Given the description of an element on the screen output the (x, y) to click on. 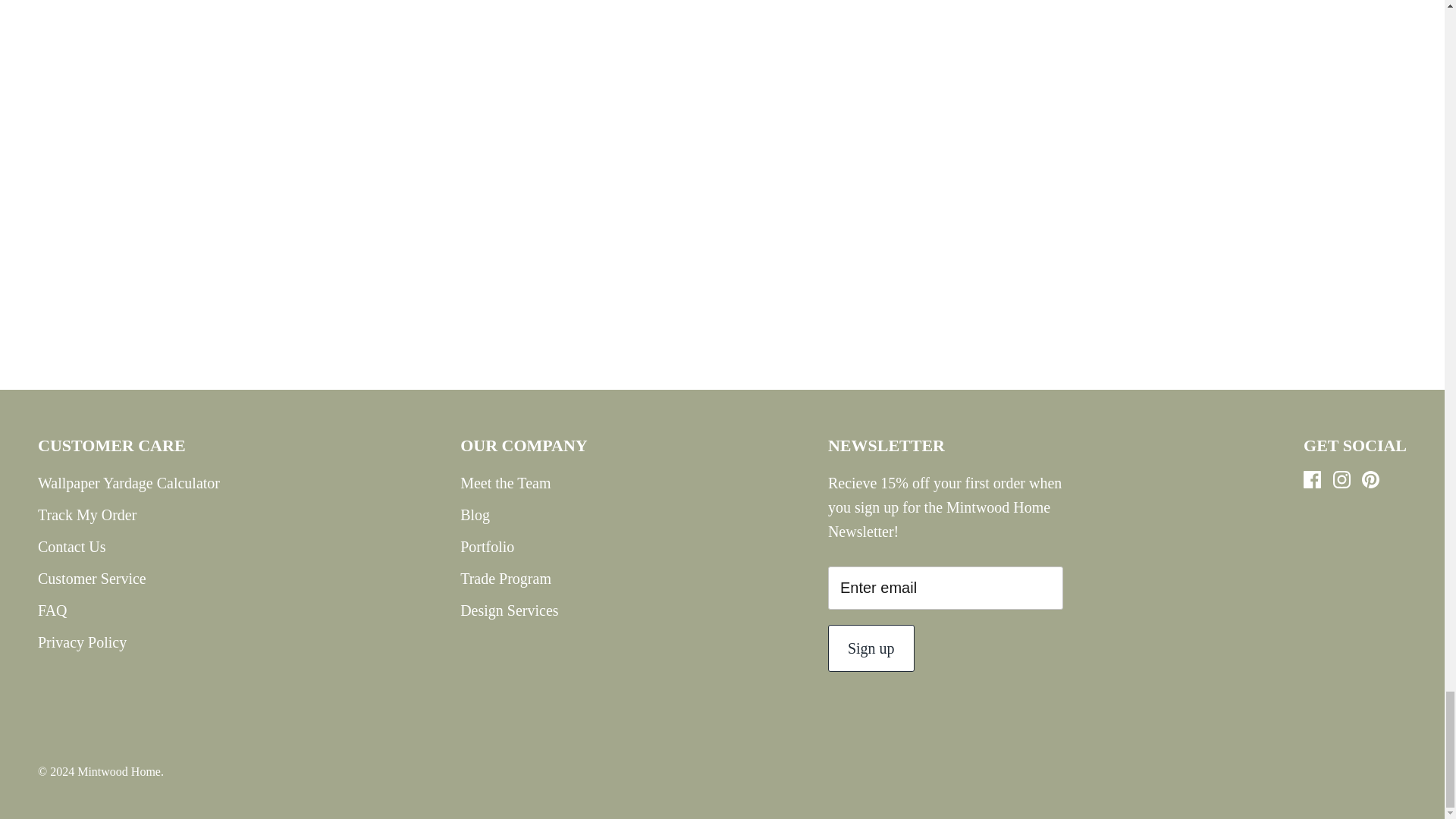
Facebook (1311, 479)
Pinterest (1369, 479)
Instagram (1342, 479)
